Given the description of an element on the screen output the (x, y) to click on. 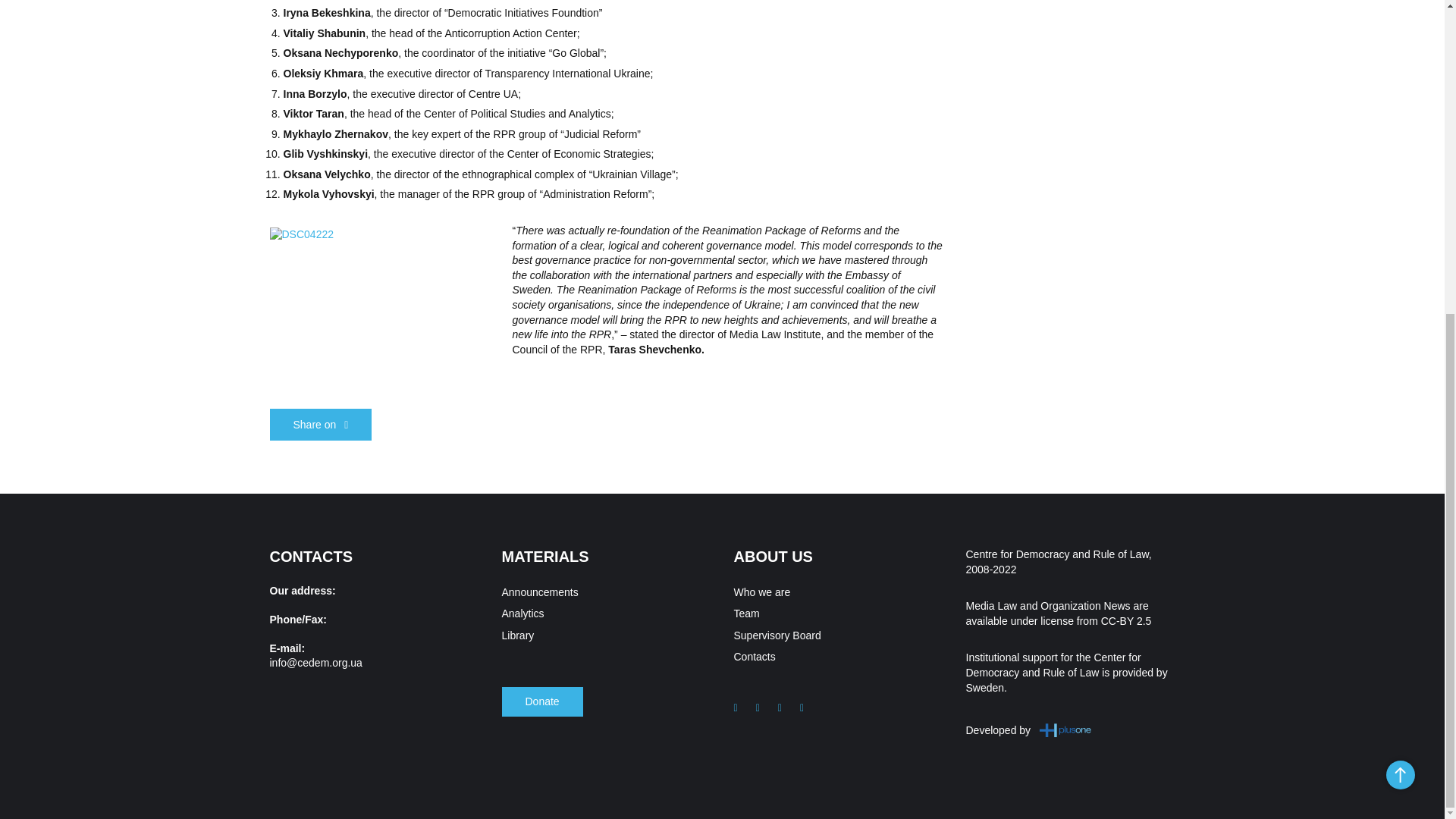
Facebook share (320, 424)
